Given the description of an element on the screen output the (x, y) to click on. 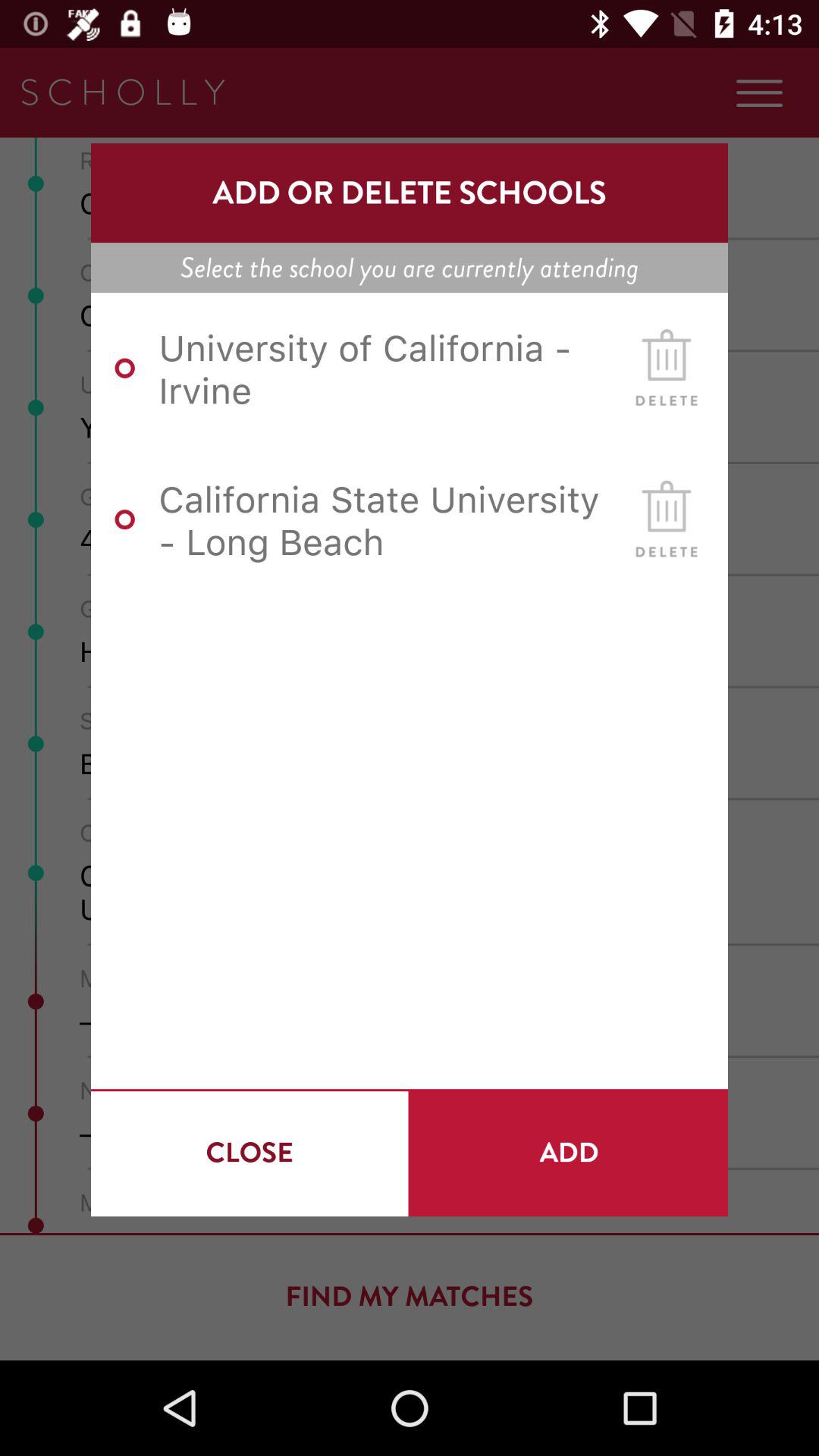
press the close at the bottom left corner (249, 1152)
